Given the description of an element on the screen output the (x, y) to click on. 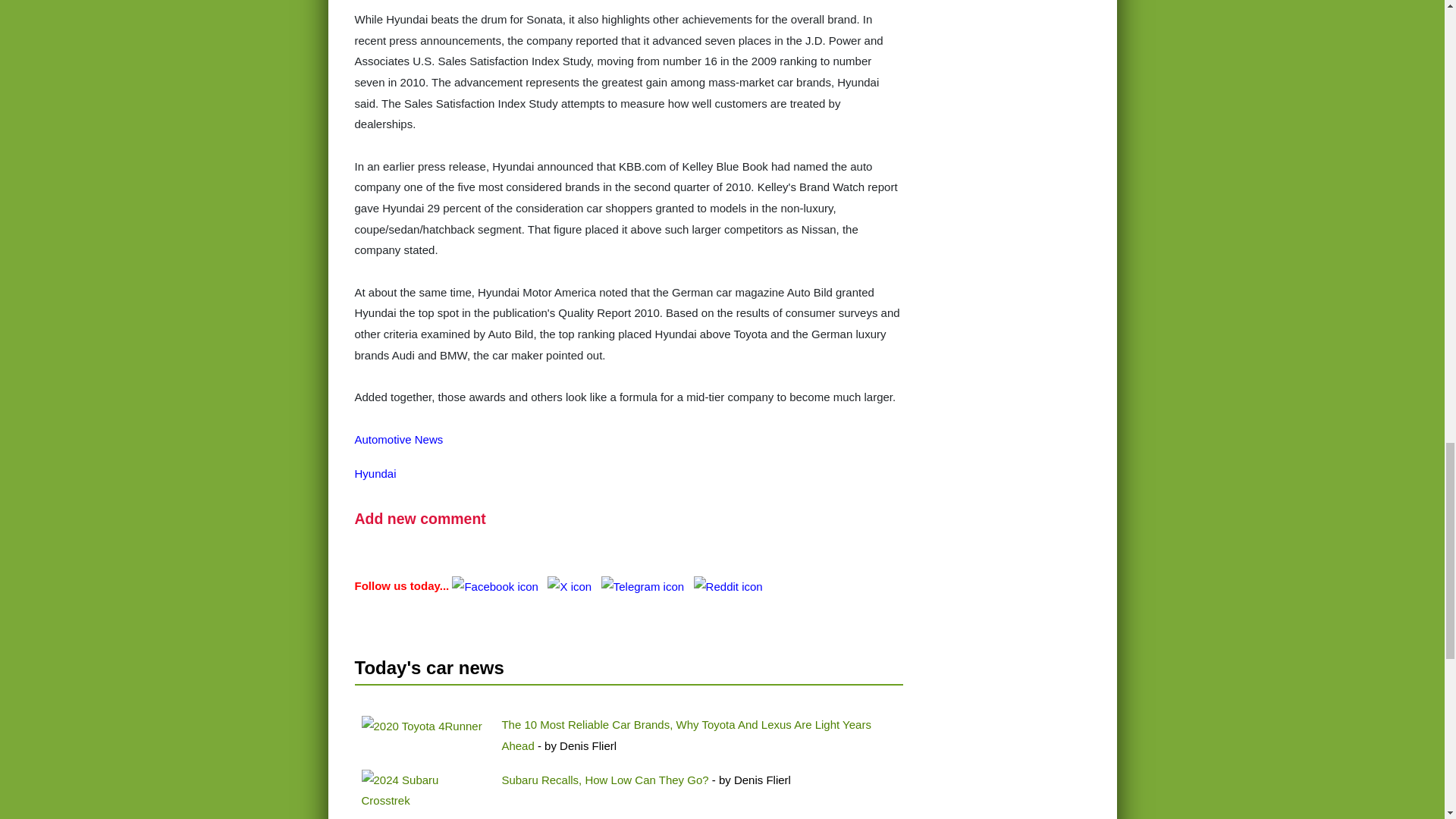
2024 Subaru Crosstrek at the dealer for a recall (424, 790)
Join us on Telegram! (644, 585)
2020 Toyota 4Runner in the dirt and mud (421, 726)
Share your thoughts and opinions. (420, 518)
Hyundai (375, 472)
Automotive News (399, 439)
Add new comment (420, 518)
Subaru Recalls, How Low Can They Go? (603, 779)
Join us on Reddit! (728, 585)
